Given the description of an element on the screen output the (x, y) to click on. 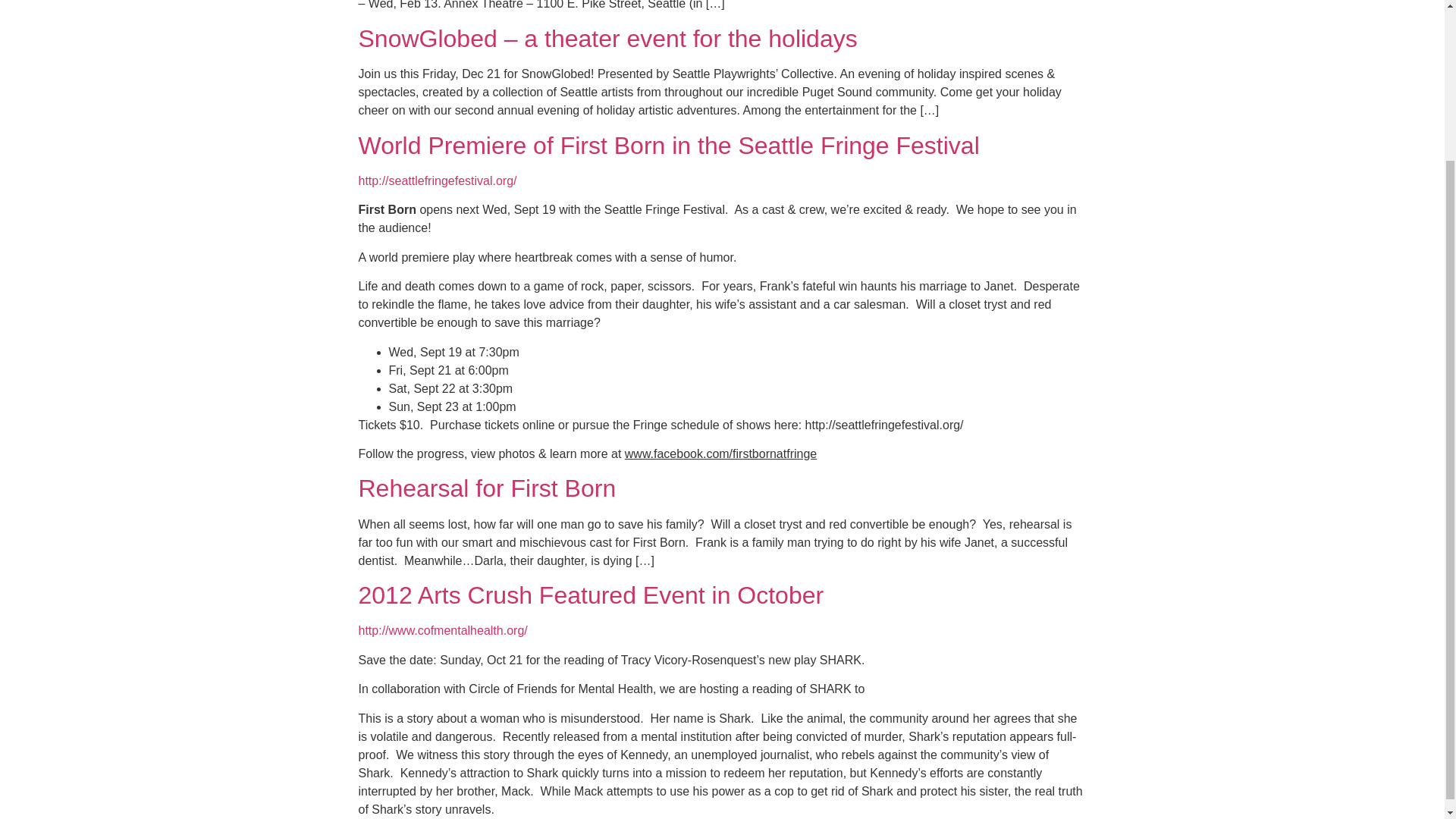
World Premiere of First Born in the Seattle Fringe Festival (668, 144)
Rehearsal for First Born (486, 488)
2012 Arts Crush Featured Event in October (591, 595)
